Given the description of an element on the screen output the (x, y) to click on. 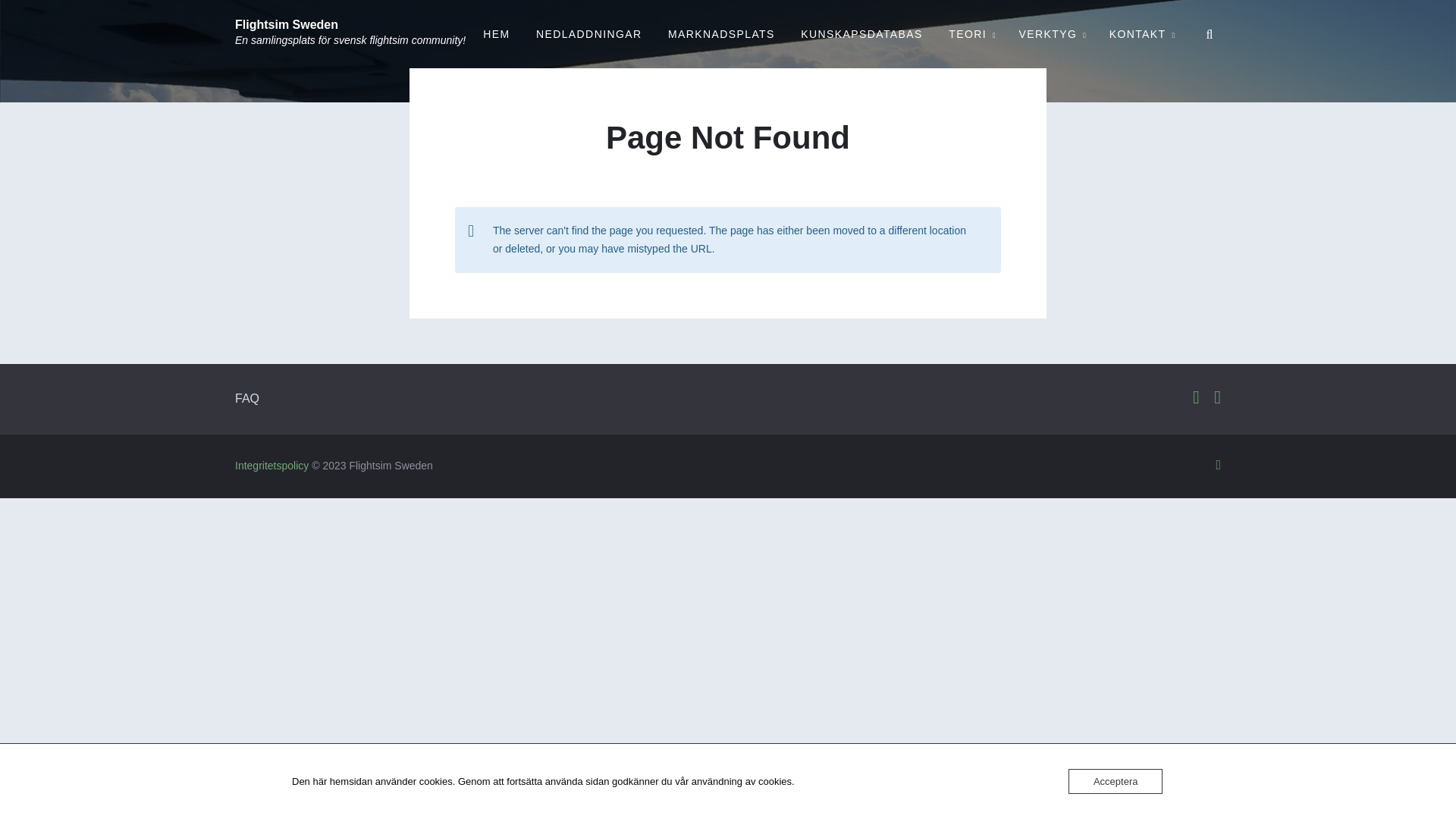
KUNSKAPSDATABAS (861, 34)
TEORI (971, 34)
MARKNADSPLATS (721, 34)
Expand search (1209, 34)
HEM (496, 34)
Flightsim Sweden (285, 24)
NEDLADDNINGAR (588, 34)
VERKTYG (1051, 34)
Social Media Links (1194, 396)
FAQ (246, 398)
